Given the description of an element on the screen output the (x, y) to click on. 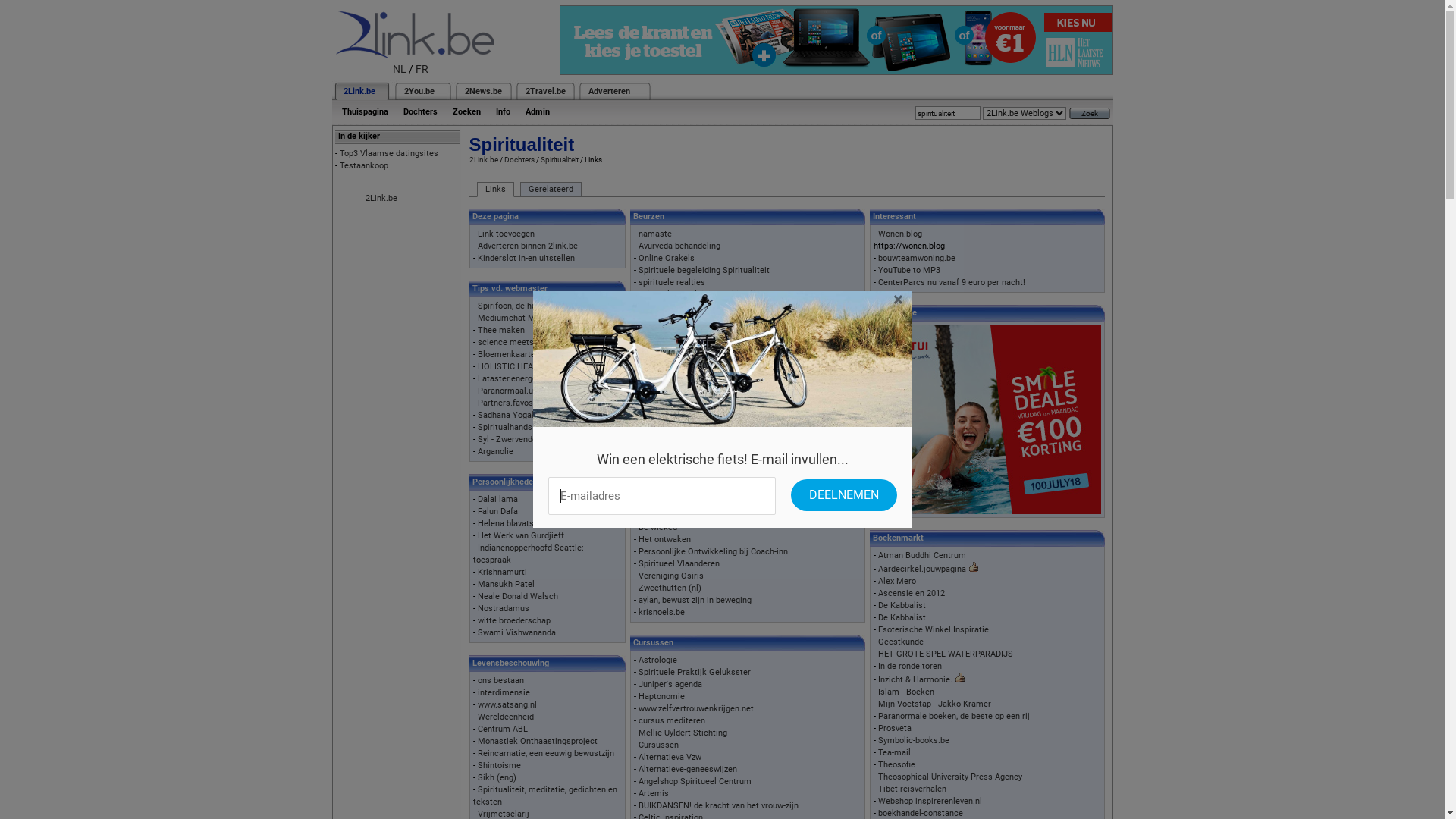
witte broederschap Element type: text (513, 620)
Zweethutten (nl) Element type: text (669, 588)
CenterParcs nu vanaf 9 euro per nacht! Element type: text (951, 282)
Het Werk van Gurdjieff Element type: text (520, 535)
De Kabbalist Element type: text (901, 605)
HET GROTE SPEL WATERPARADIJS Element type: text (945, 653)
YouTube to MP3 Element type: text (909, 270)
Mediumchat Mediums Element type: text (520, 318)
Cursussen Element type: text (658, 744)
Wonen.blog Element type: text (900, 233)
Gerelateerd Element type: text (550, 189)
Admin Element type: text (536, 111)
2Link.be Element type: text (482, 159)
2Link.be Element type: text (381, 198)
Sadhana Yogakring Turnhout Element type: text (531, 415)
boekhandel-constance Element type: text (920, 813)
FR Element type: text (421, 68)
Paranormaal.uwstart Element type: text (517, 390)
Symbolic-books.be Element type: text (913, 740)
www.satsang.nl Element type: text (506, 704)
Spiritueel-delen Element type: text (667, 306)
Kinderslot in-en uitstellen Element type: text (525, 258)
Alternatieve-geneeswijzen Element type: text (687, 769)
Spiritualhands Element type: text (504, 427)
Astrologie Element type: text (657, 660)
Sikh (eng) Element type: text (496, 777)
Tantravision Element type: text (661, 330)
Tea-mail Element type: text (894, 752)
Tibet reisverhalen Element type: text (912, 788)
Het ontwaken Element type: text (664, 539)
Mijn Voetstap - Jakko Kramer Element type: text (934, 704)
namaste Element type: text (654, 233)
Thee maken Element type: text (500, 330)
Adriana Maria, Mysticus Element type: text (684, 515)
Dalai lama Element type: text (497, 499)
Bureau View (nl) Element type: text (669, 355)
Spirituele Praktijk Geluksster Element type: text (694, 672)
spirituele begeleiding spiritualiteit Element type: text (703, 294)
2You.be Element type: text (418, 91)
Avurveda behandeling Element type: text (679, 246)
Spirifoon, de hulplijn die werkt Element type: text (534, 305)
Spiritueel.uwstart Element type: text (672, 455)
Webshop inspirerenleven.nl Element type: text (930, 801)
Zoeken Element type: text (465, 111)
Dochters Element type: text (518, 159)
BUIKDANSEN! de kracht van het vrouw-zijn Element type: text (718, 805)
Esoterische Winkel Inspiratie Element type: text (933, 629)
Bloemenkaarten Element type: text (508, 354)
Prosveta Element type: text (894, 728)
Arganolie Element type: text (495, 451)
In de ronde toren Element type: text (909, 666)
Zoek Element type: text (1089, 113)
Swami Vishwananda Element type: text (516, 632)
Haptonomie Element type: text (661, 696)
Spiritualiteit Element type: text (558, 159)
Ascensie en 2012 Element type: text (911, 593)
Inzicht & Harmonie. Element type: text (915, 679)
Mellie Uyldert Stichting Element type: text (682, 732)
science meets spirituality Element type: text (526, 342)
krisnoels.be Element type: text (661, 612)
Indianenopperhoofd Seattle: toespraak Element type: text (528, 553)
Theosophical University Press Agency Element type: text (950, 776)
Thuispagina Element type: text (364, 111)
Link toevoegen Element type: text (505, 233)
www.zelfvertrouwenkrijgen.net Element type: text (695, 708)
Alternatieva Vzw Element type: text (669, 757)
Krishnamurti Element type: text (502, 572)
Mansukh Patel Element type: text (505, 584)
Info Element type: text (502, 111)
Spirituele begeleiding Spiritualiteit Element type: text (703, 270)
Nostradamus Element type: text (503, 608)
NL Element type: text (399, 68)
2Link.be Element type: text (358, 91)
Spiritualiteit, meditatie, gedichten en teksten Element type: text (545, 795)
Angelshop Spiritueel Centrum Element type: text (694, 781)
Juniper's agenda Element type: text (670, 684)
Spiritueel Vlaanderen Element type: text (678, 563)
cursus mediteren Element type: text (671, 720)
Geestkunde Element type: text (900, 641)
Centrum ABL Element type: text (502, 729)
Dongeren Beursorganisatie (nl) Element type: text (697, 367)
Dochters Element type: text (420, 111)
Vereniging Osiris Element type: text (670, 575)
Theosofie Element type: text (896, 764)
interdimensie Element type: text (503, 692)
Top3 Vlaamse datingsites Element type: text (388, 153)
Paranormale boeken, de beste op een rij Element type: text (953, 716)
Syl - Zwervende Zielen Element type: text (519, 439)
Reincarnatie, een eeuwig bewustzijn Element type: text (545, 753)
Persoonlijke Ontwikkeling bij Coach-inn Element type: text (712, 551)
Adverteren Element type: text (609, 91)
Adverteren binnen 2link.be Element type: text (527, 246)
praktijkumai Element type: text (662, 467)
New Age Lifestyle beurs Element type: text (684, 393)
spirituele realties Element type: text (671, 282)
Partners.favos Element type: text (505, 402)
Neale Donald Walsch Element type: text (517, 596)
Gezondheidszorg-wijzer Element type: text (682, 380)
De Kabbalist Element type: text (901, 617)
Atman Buddhi Centrum Element type: text (922, 555)
Alex Mero Element type: text (897, 581)
Spiritueel-delen.startbewijs Element type: text (690, 443)
Wereldeenheid Element type: text (505, 716)
Lataster.energetix.tv Element type: text (516, 378)
Testaankoop Element type: text (363, 165)
Links Element type: text (494, 189)
2Travel.be Element type: text (544, 91)
bouwteamwoning.be Element type: text (916, 258)
aylan, bewust zijn in beweging Element type: text (694, 600)
Islam - Boeken Element type: text (906, 691)
Paranormica Element type: text (662, 405)
Artemis Element type: text (653, 793)
Parapoort Element type: text (656, 417)
Online Orakels Element type: text (666, 258)
Falun Dafa Element type: text (497, 511)
Serafijntje Element type: text (657, 429)
HOLISTIC HEALING CIRCLE Element type: text (529, 366)
ons bestaan Element type: text (500, 680)
Helena blavatsky Element type: text (509, 523)
2News.be Element type: text (482, 91)
Shintoisme Element type: text (498, 765)
Aardecirkel.jouwpagina Element type: text (922, 569)
Be wicked Element type: text (657, 527)
Spiritueel-dromen.goedbegin Element type: text (692, 343)
Helende Reis Element type: text (663, 318)
Monastiek Onthaastingsproject Element type: text (537, 741)
